Given the description of an element on the screen output the (x, y) to click on. 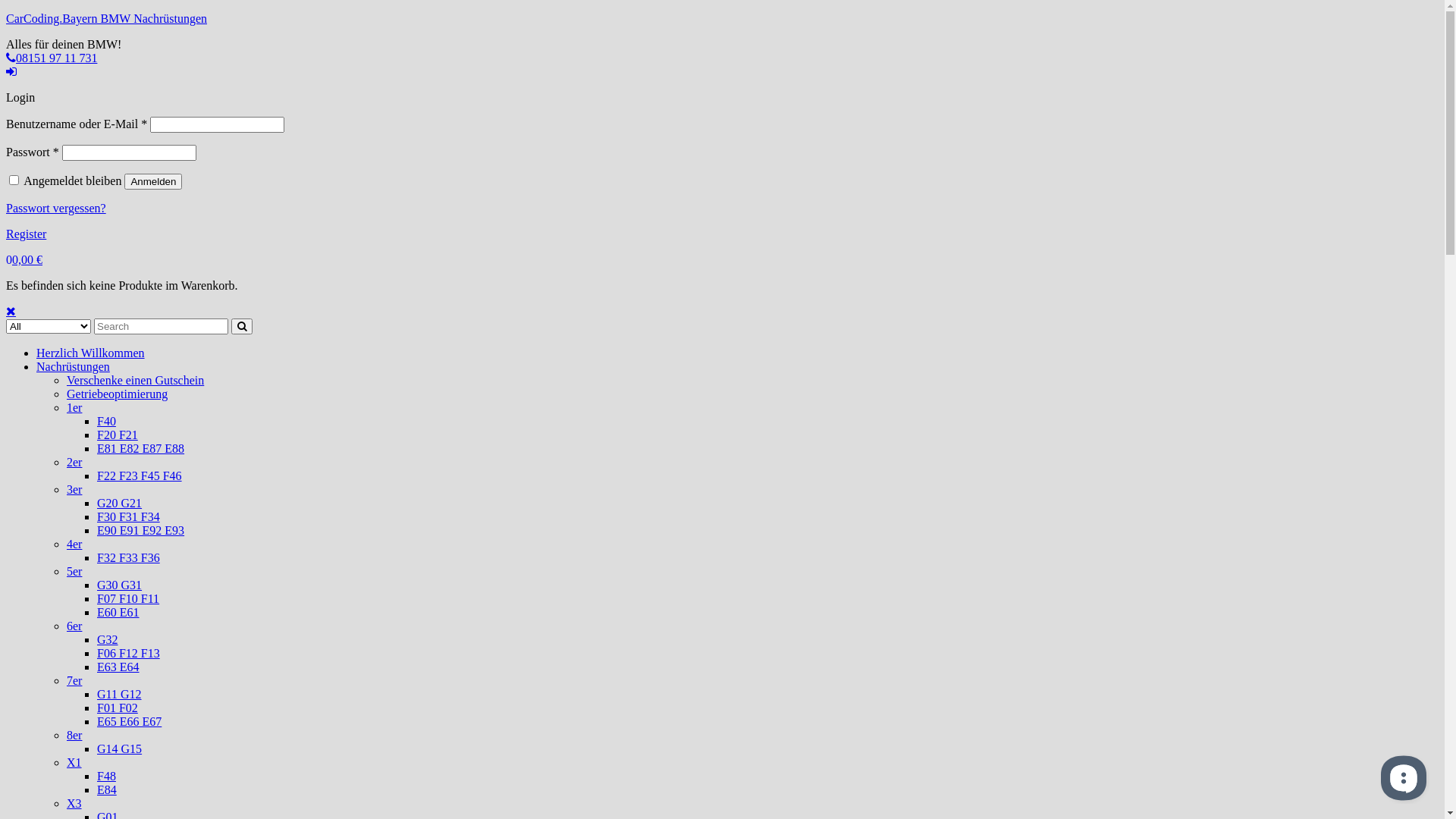
F07 F10 F11 Element type: text (128, 598)
X3 Element type: text (73, 803)
F32 F33 F36 Element type: text (128, 557)
Register Element type: text (26, 233)
Search for: Element type: hover (161, 326)
F40 Element type: text (106, 420)
F01 F02 Element type: text (117, 707)
G32 Element type: text (107, 639)
Getriebeoptimierung Element type: text (116, 393)
6er Element type: text (73, 625)
E60 E61 Element type: text (118, 611)
08151 97 11 731 Element type: text (51, 57)
F06 F12 F13 Element type: text (128, 652)
Passwort vergessen? Element type: text (56, 207)
Anmelden Element type: text (153, 181)
E63 E64 Element type: text (118, 666)
8er Element type: text (73, 734)
G11 G12 Element type: text (119, 693)
F48 Element type: text (106, 775)
G14 G15 Element type: text (119, 748)
F22 F23 F45 F46 Element type: text (139, 475)
F30 F31 F34 Element type: text (128, 516)
F20 F21 Element type: text (117, 434)
5er Element type: text (73, 570)
E84 Element type: text (106, 789)
3er Element type: text (73, 489)
7er Element type: text (73, 680)
X1 Element type: text (73, 762)
E81 E82 E87 E88 Element type: text (140, 448)
2er Element type: text (73, 461)
Herzlich Willkommen Element type: text (90, 352)
4er Element type: text (73, 543)
E90 E91 E92 E93 Element type: text (140, 530)
1er Element type: text (73, 407)
G30 G31 Element type: text (119, 584)
G20 G21 Element type: text (119, 502)
__replain_widget_iframe Element type: hover (1402, 776)
Verschenke einen Gutschein Element type: text (134, 379)
E65 E66 E67 Element type: text (129, 721)
